Given the description of an element on the screen output the (x, y) to click on. 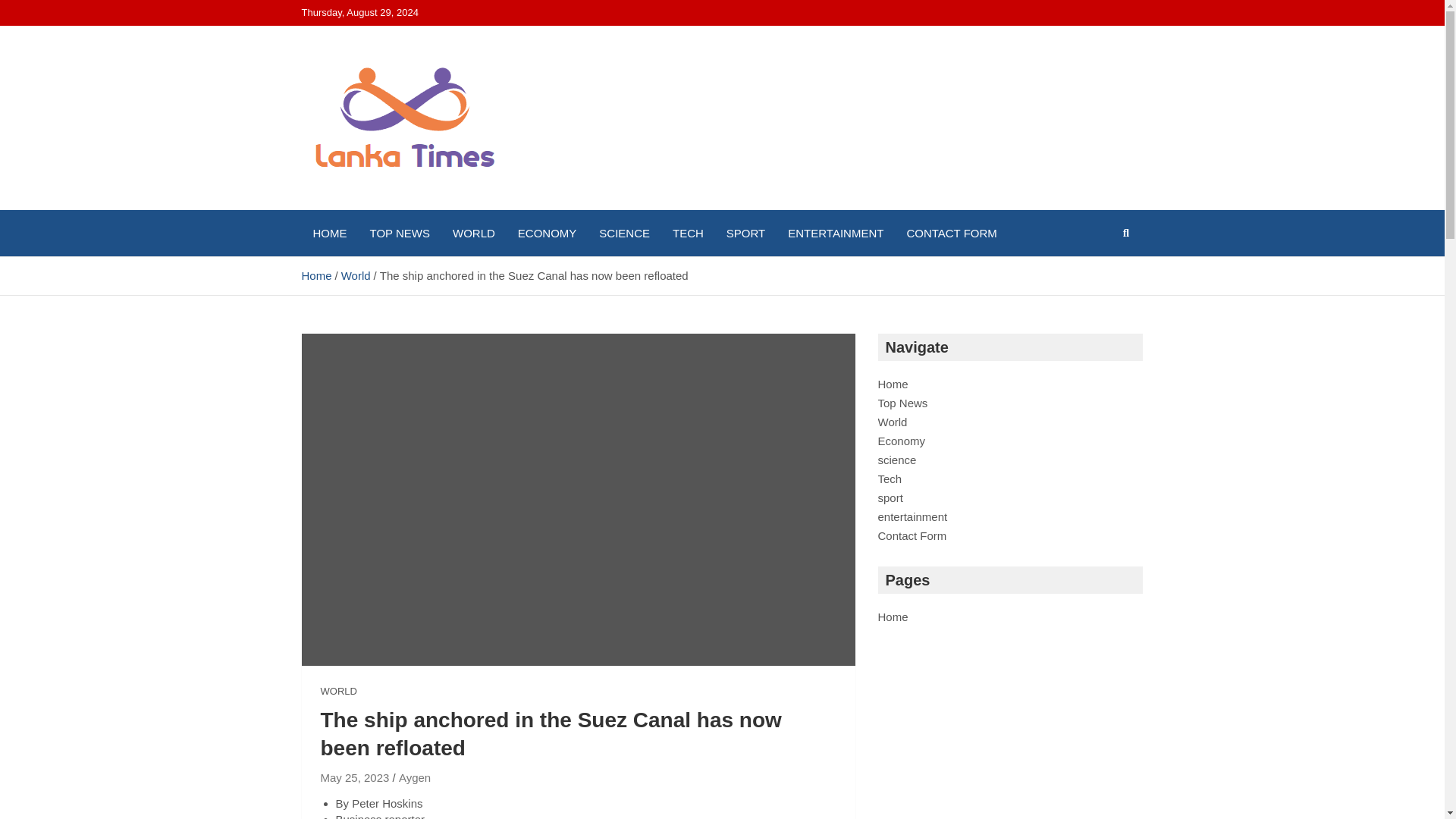
SCIENCE (624, 232)
Contact Form (912, 535)
TOP NEWS (399, 232)
Home (892, 616)
SPORT (745, 232)
CONTACT FORM (951, 232)
May 25, 2023 (354, 777)
science (897, 459)
Top News (902, 402)
Economy (901, 440)
